Given the description of an element on the screen output the (x, y) to click on. 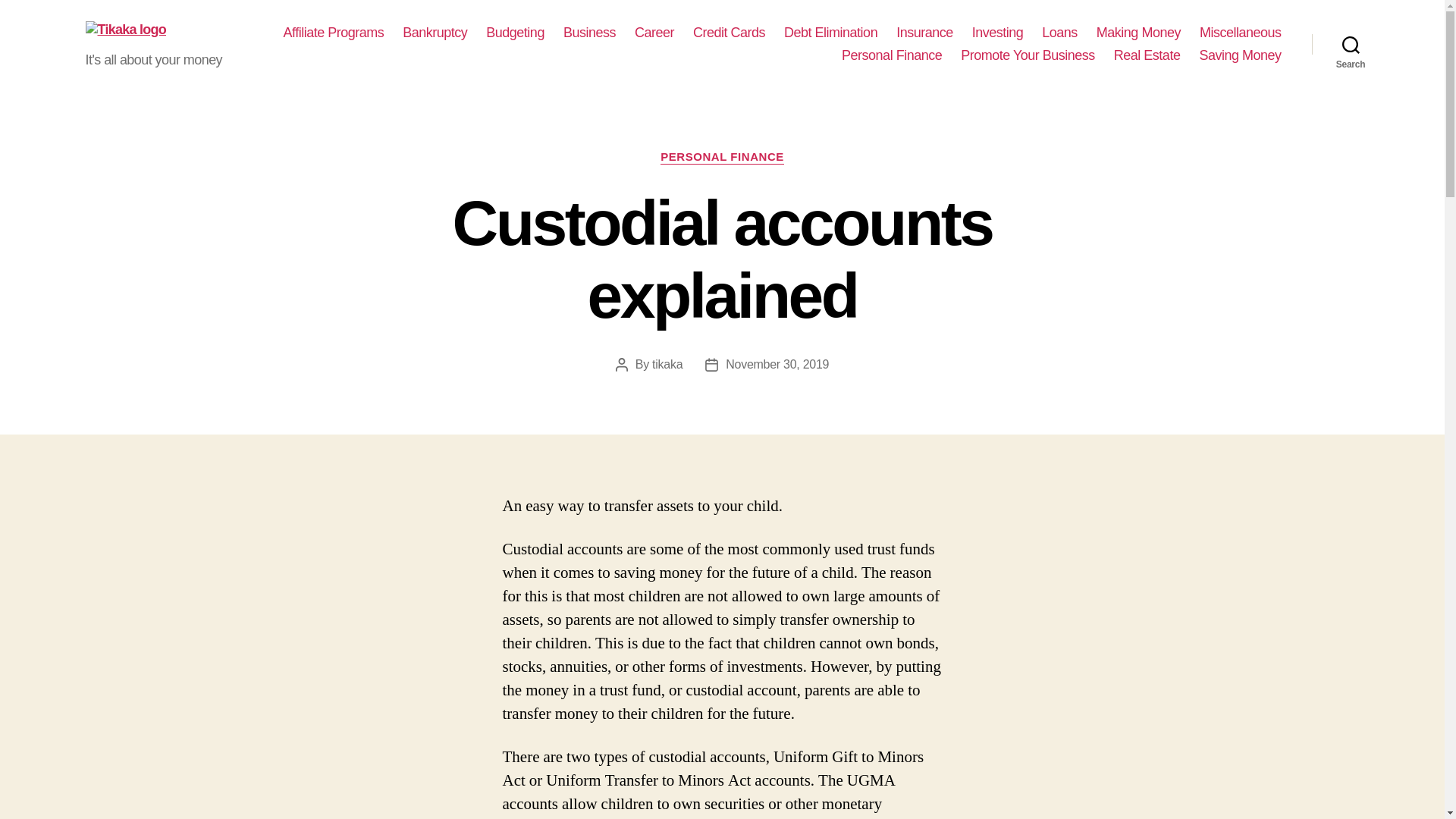
Promote Your Business (1027, 55)
Making Money (1138, 33)
Budgeting (515, 33)
Business (589, 33)
Credit Cards (729, 33)
Miscellaneous (1240, 33)
Personal Finance (891, 55)
Career (654, 33)
Saving Money (1239, 55)
Loans (1059, 33)
